Given the description of an element on the screen output the (x, y) to click on. 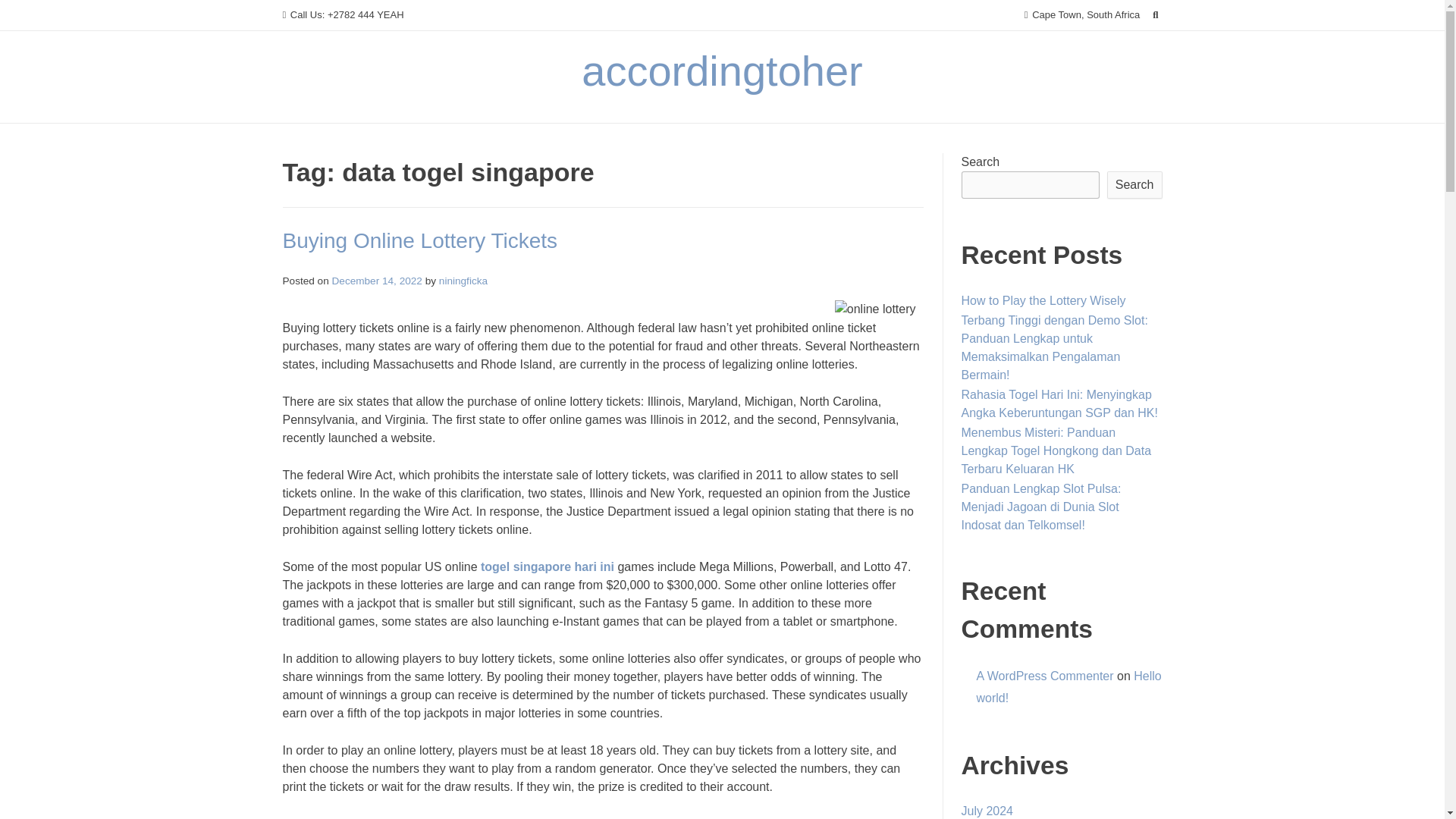
Buying Online Lottery Tickets (419, 240)
togel singapore hari ini (547, 566)
niningficka (463, 280)
accordingtoher (720, 70)
December 14, 2022 (376, 280)
Search (27, 13)
